Given the description of an element on the screen output the (x, y) to click on. 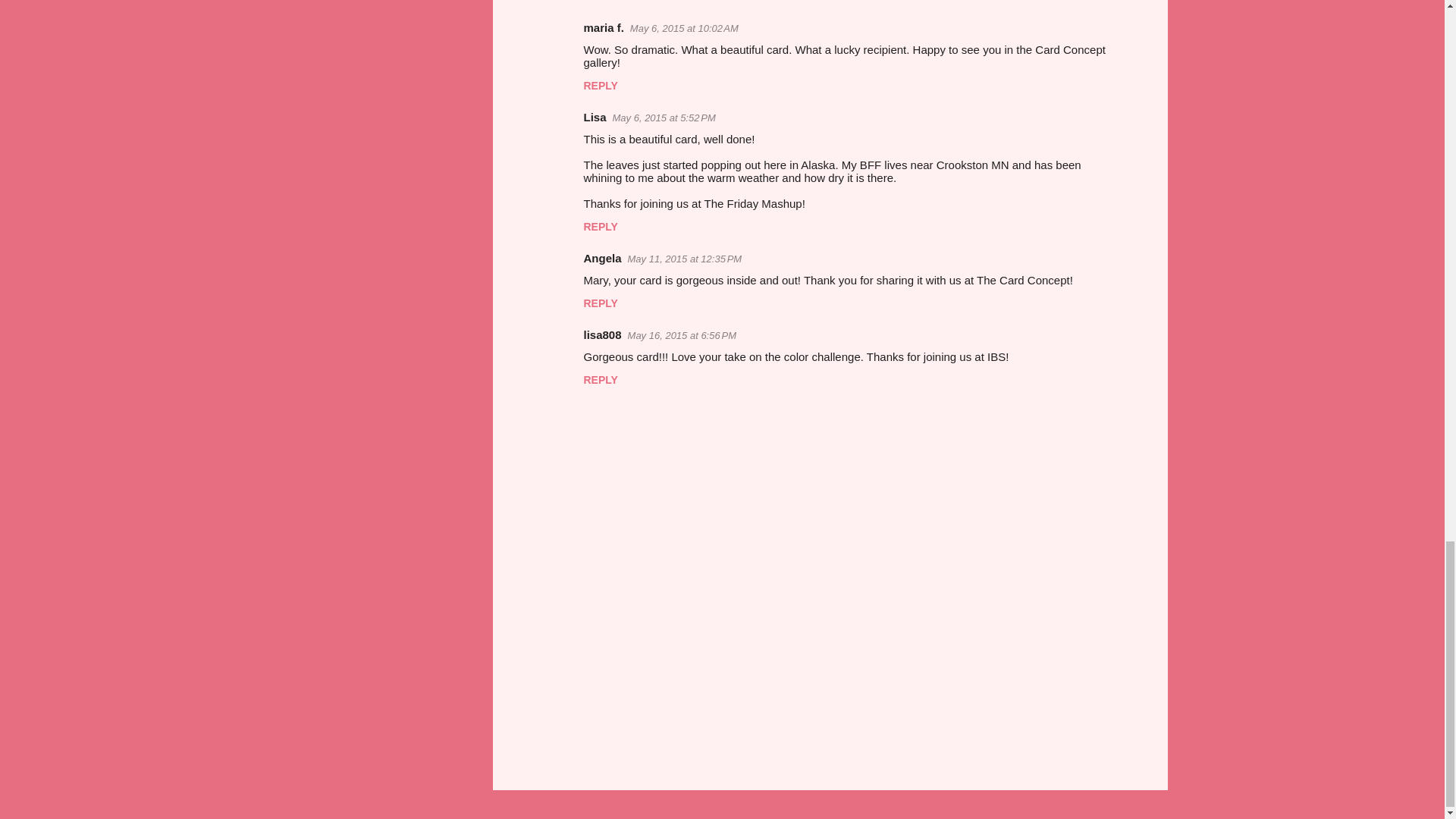
REPLY (600, 226)
maria f. (603, 27)
REPLY (600, 1)
REPLY (600, 85)
Lisa (595, 116)
